Given the description of an element on the screen output the (x, y) to click on. 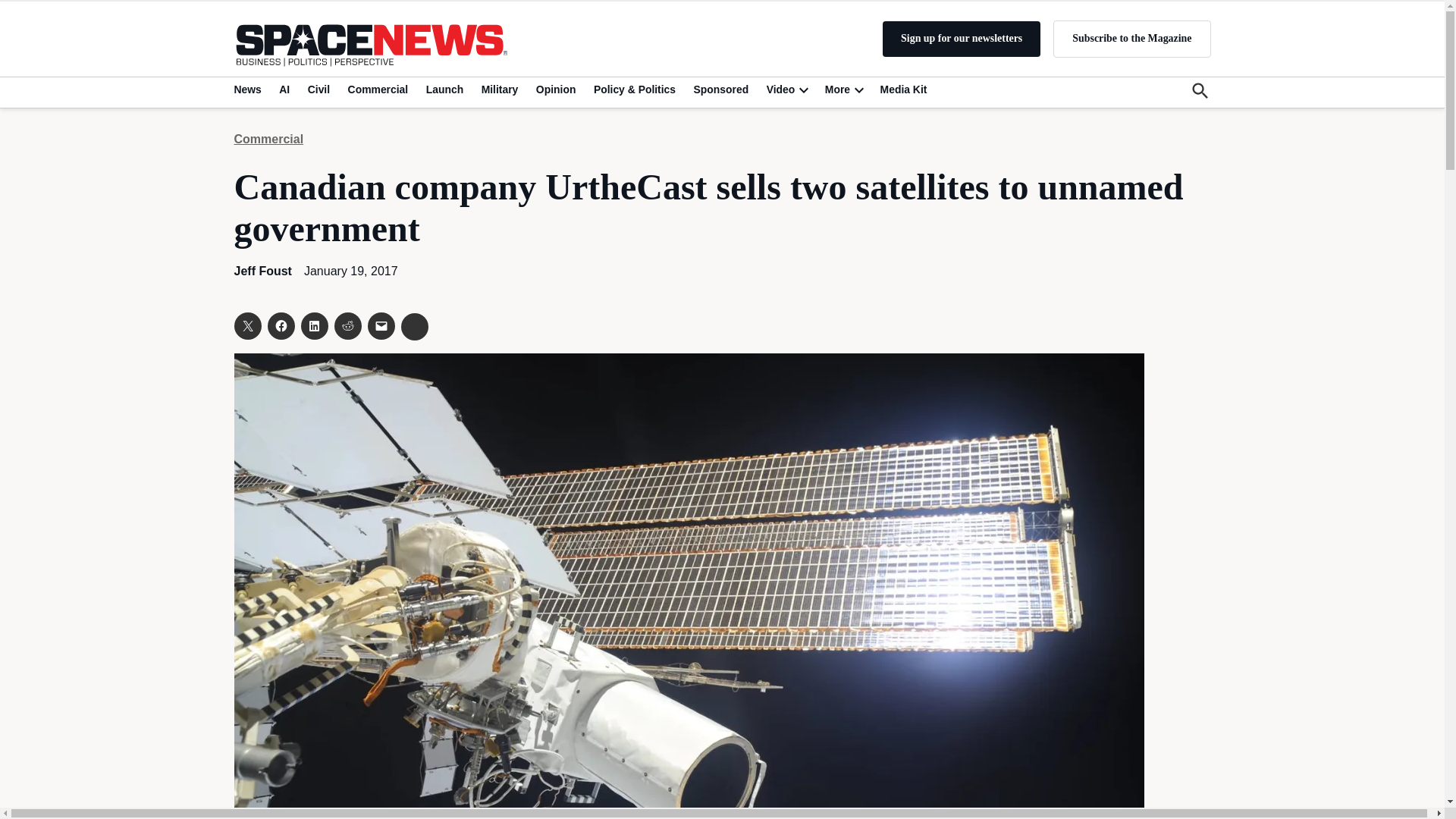
News (249, 89)
Click to share on LinkedIn (313, 325)
Click to share on X (246, 325)
Subscribe to the Magazine (1130, 38)
Click to share on Clipboard (414, 326)
Click to share on Facebook (280, 325)
Click to share on Reddit (347, 325)
Sign up for our newsletters (961, 38)
AI (284, 89)
Click to email a link to a friend (380, 325)
